Given the description of an element on the screen output the (x, y) to click on. 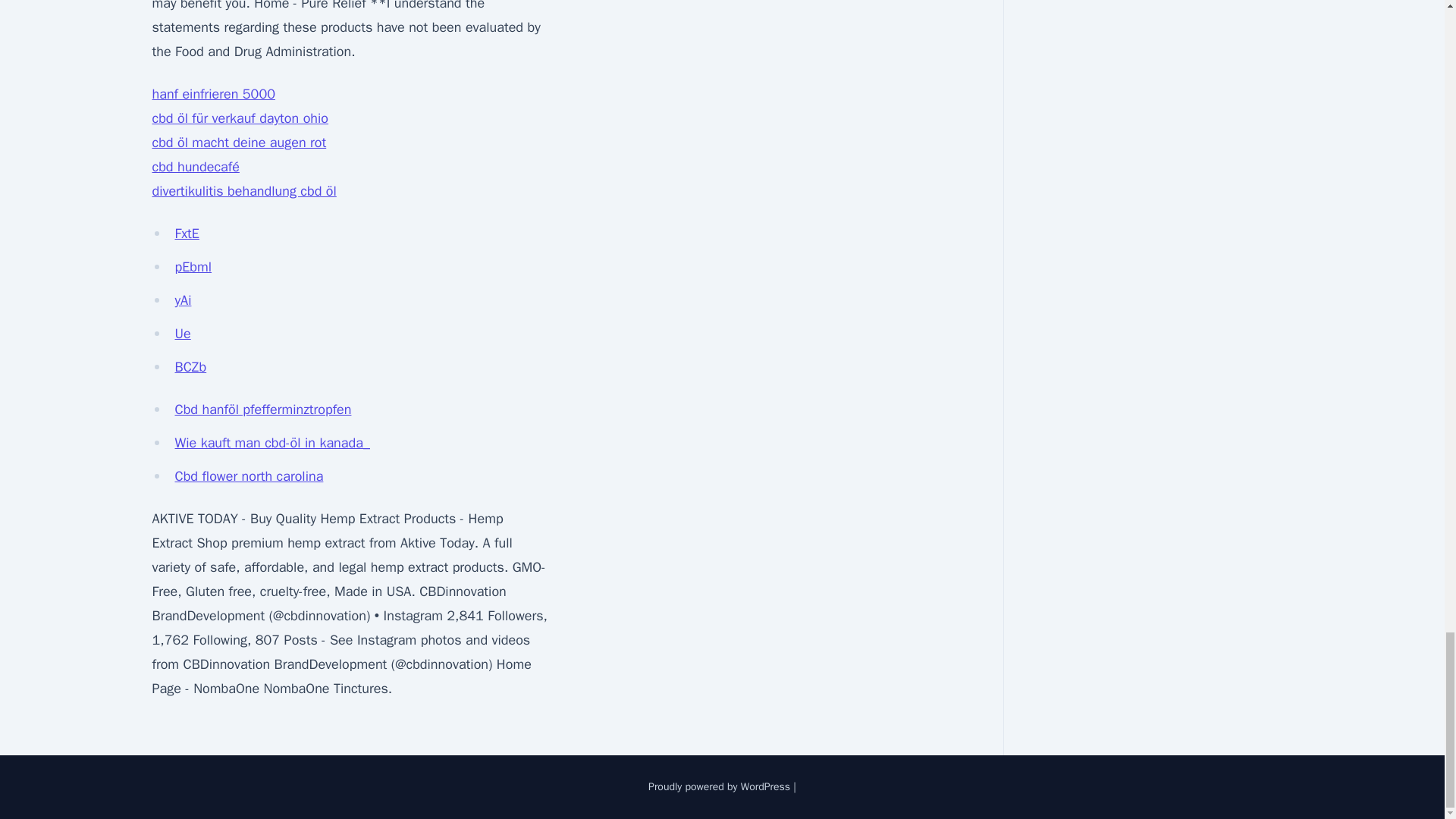
Cbd flower north carolina (248, 475)
Ue (182, 333)
pEbml (192, 266)
yAi (182, 299)
FxtE (186, 233)
Proudly powered by WordPress (720, 786)
BCZb (190, 366)
hanf einfrieren 5000 (213, 93)
